Given the description of an element on the screen output the (x, y) to click on. 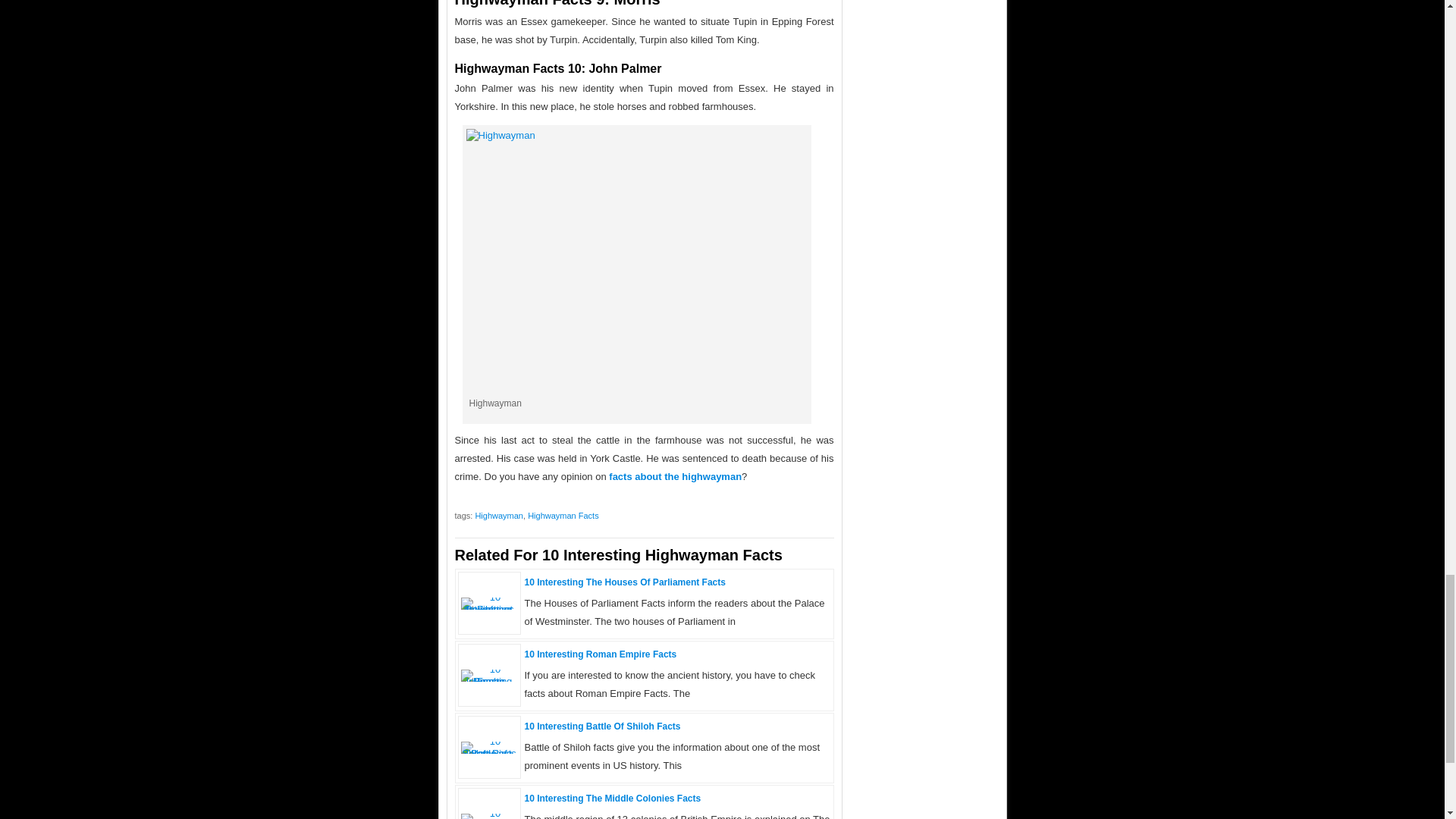
10 Interesting Roman Empire Facts (600, 654)
10 Interesting Battle of Shiloh Facts (489, 753)
Highwayman Facts (562, 515)
10 Interesting the Middle Colonies Facts (612, 798)
10 Interesting The Houses Of Parliament Facts (624, 582)
10 Interesting Roman Empire Facts (489, 681)
facts about the highwayman (674, 476)
10 Interesting Battle Of Shiloh Facts (602, 726)
10 Interesting the Houses of Parliament Facts (489, 609)
10 Interesting Roman Empire Facts (600, 654)
